Given the description of an element on the screen output the (x, y) to click on. 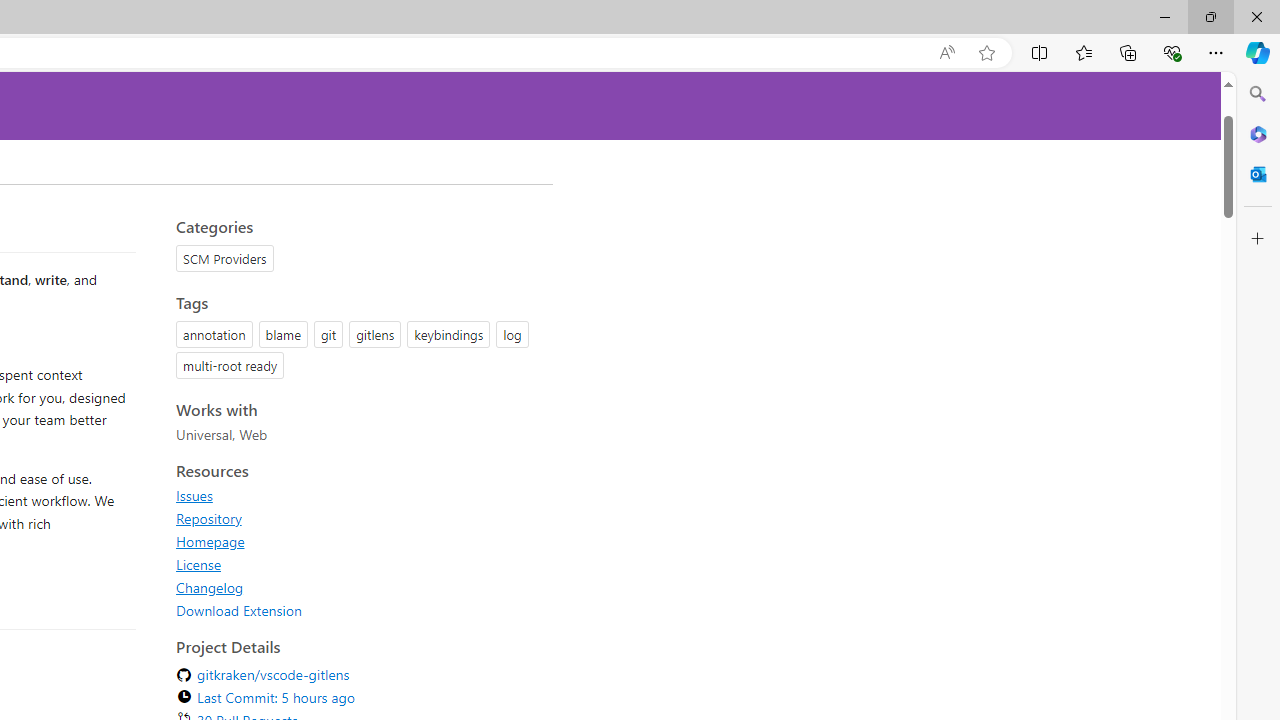
Issues (194, 495)
License (198, 564)
Repository (208, 518)
Changelog (358, 587)
Download Extension (239, 610)
